Given the description of an element on the screen output the (x, y) to click on. 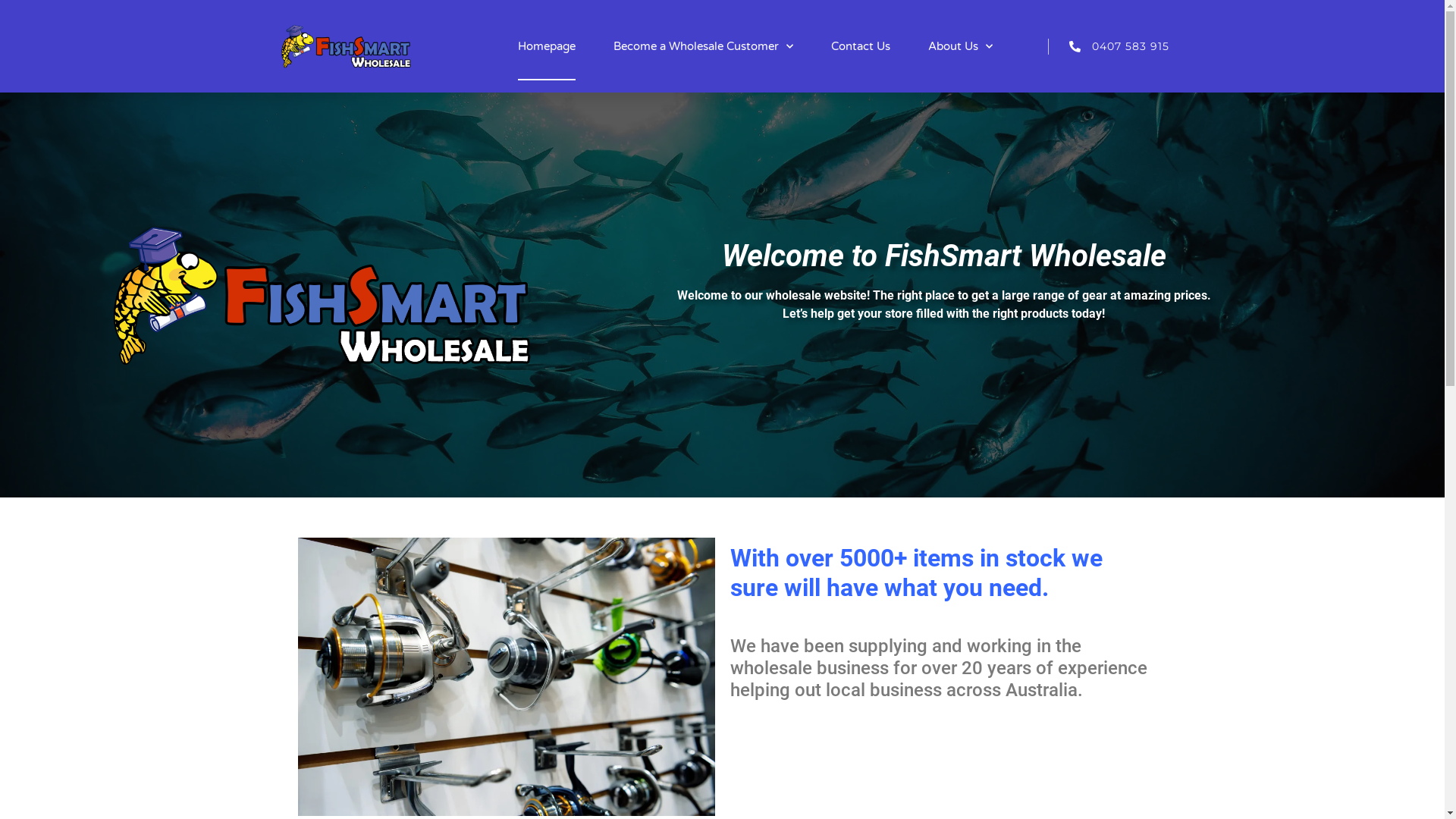
About Us Element type: text (960, 46)
Become a Wholesale Customer Element type: text (703, 46)
Contact Us Element type: text (860, 46)
Homepage Element type: text (546, 46)
